Given the description of an element on the screen output the (x, y) to click on. 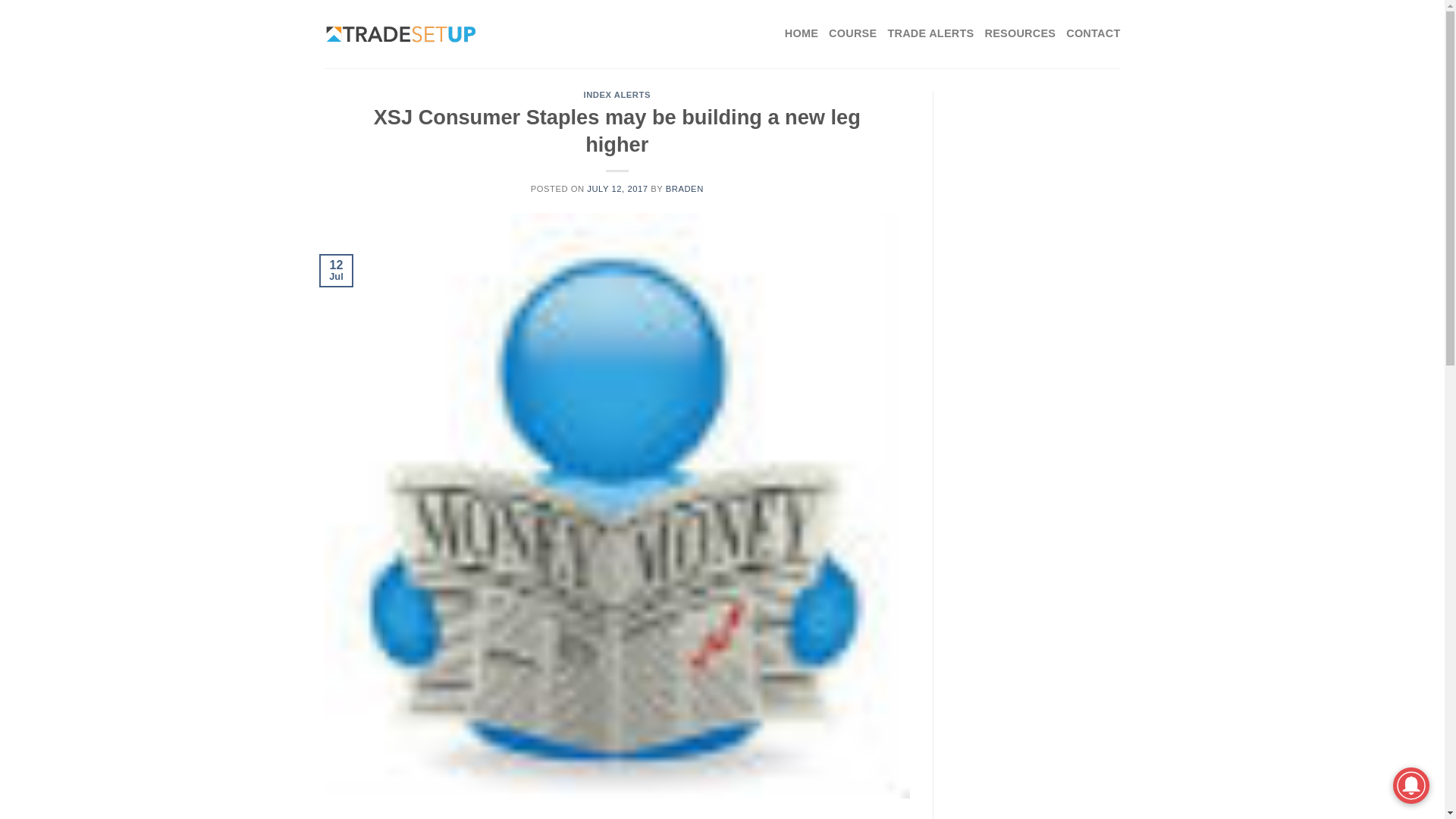
RESOURCES (1019, 33)
HOME (801, 33)
BRADEN (684, 188)
CONTACT (1092, 33)
INDEX ALERTS (616, 94)
TRADE ALERTS (930, 33)
TradeSetup - Australia's leading Trade Alert Service (400, 34)
JULY 12, 2017 (616, 188)
COURSE (852, 33)
